Given the description of an element on the screen output the (x, y) to click on. 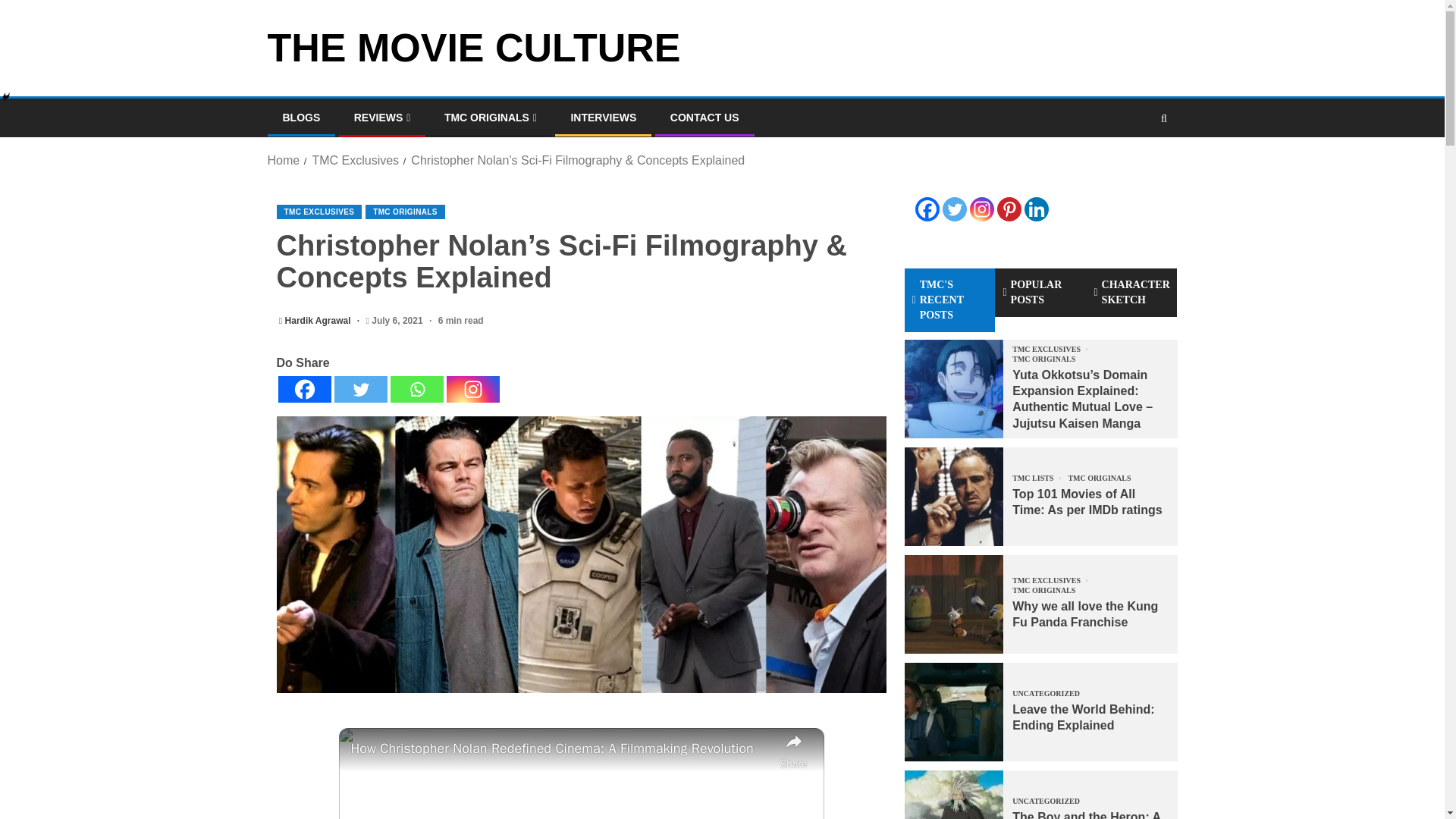
Whatsapp (416, 388)
REVIEWS (381, 117)
Instagram (472, 388)
THE MOVIE CULTURE (472, 47)
CONTACT US (704, 117)
Hardik Agrawal (319, 320)
TMC EXCLUSIVES (318, 211)
TMC ORIGINALS (405, 211)
Hide (5, 96)
Search (1133, 163)
TMC ORIGINALS (490, 117)
Home (282, 160)
Twitter (360, 388)
Facebook (304, 388)
INTERVIEWS (603, 117)
